Given the description of an element on the screen output the (x, y) to click on. 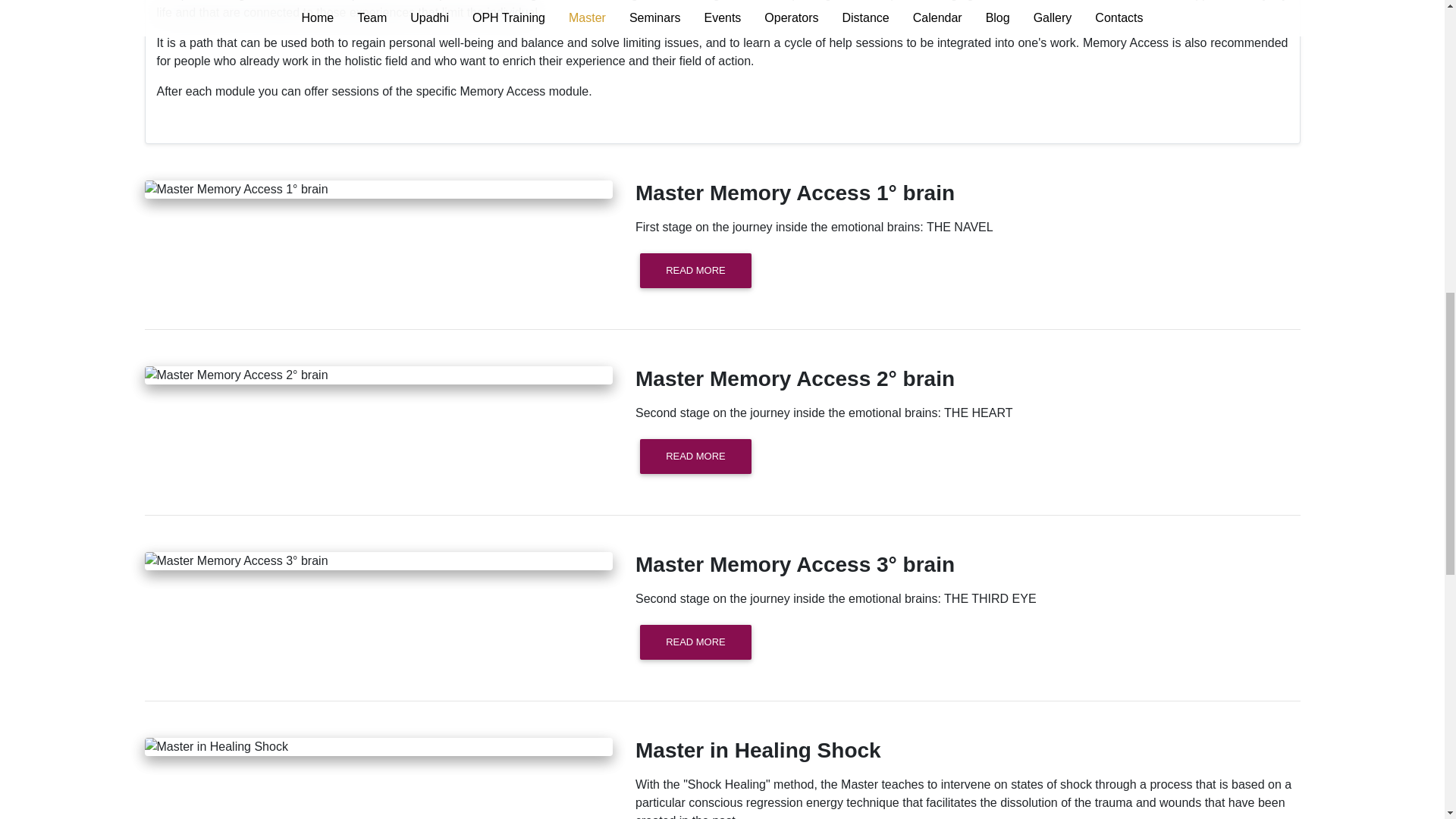
READ MORE (695, 456)
READ MORE (695, 270)
READ MORE (695, 642)
